Given the description of an element on the screen output the (x, y) to click on. 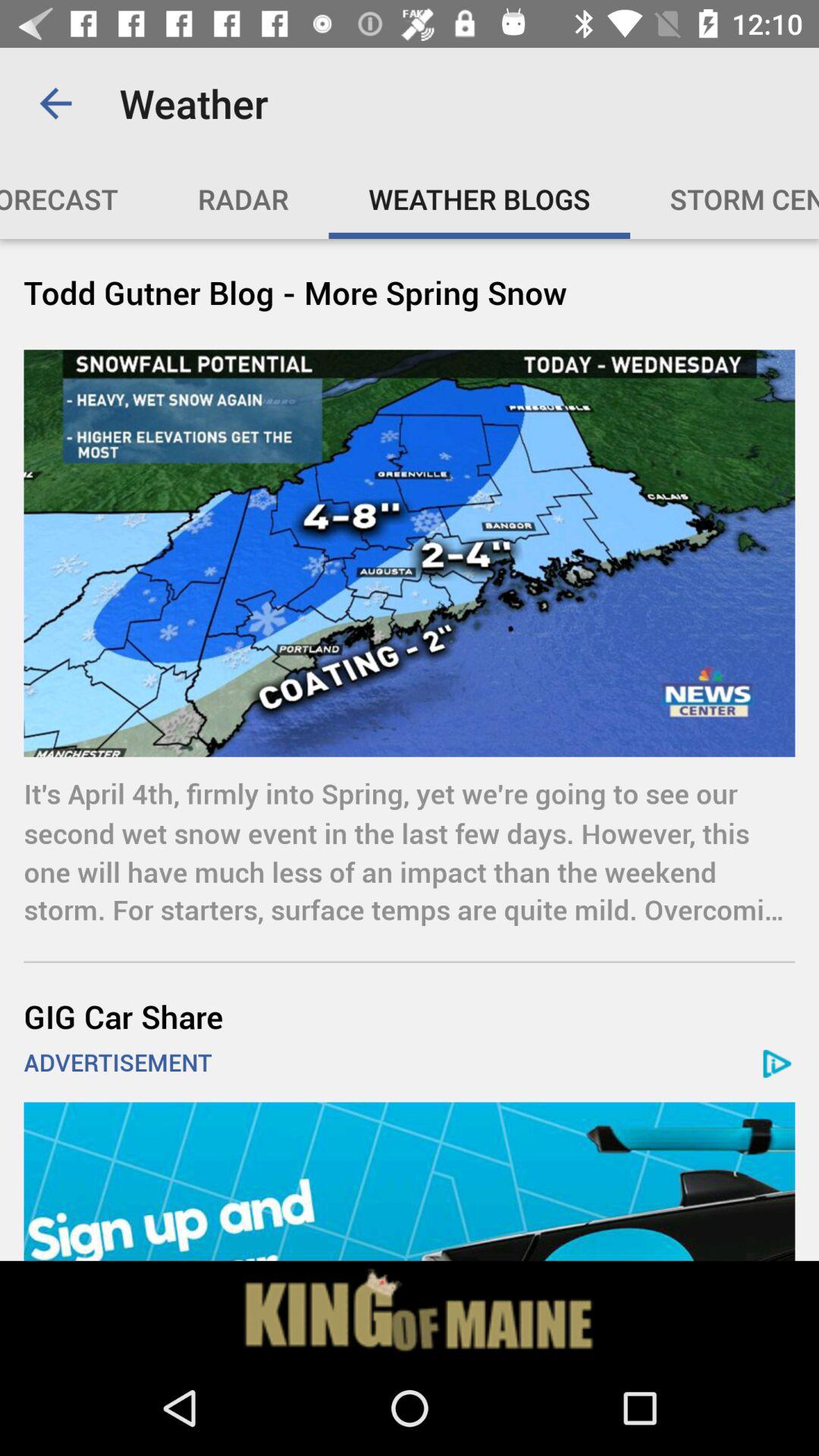
turn off gig car share (409, 1015)
